Given the description of an element on the screen output the (x, y) to click on. 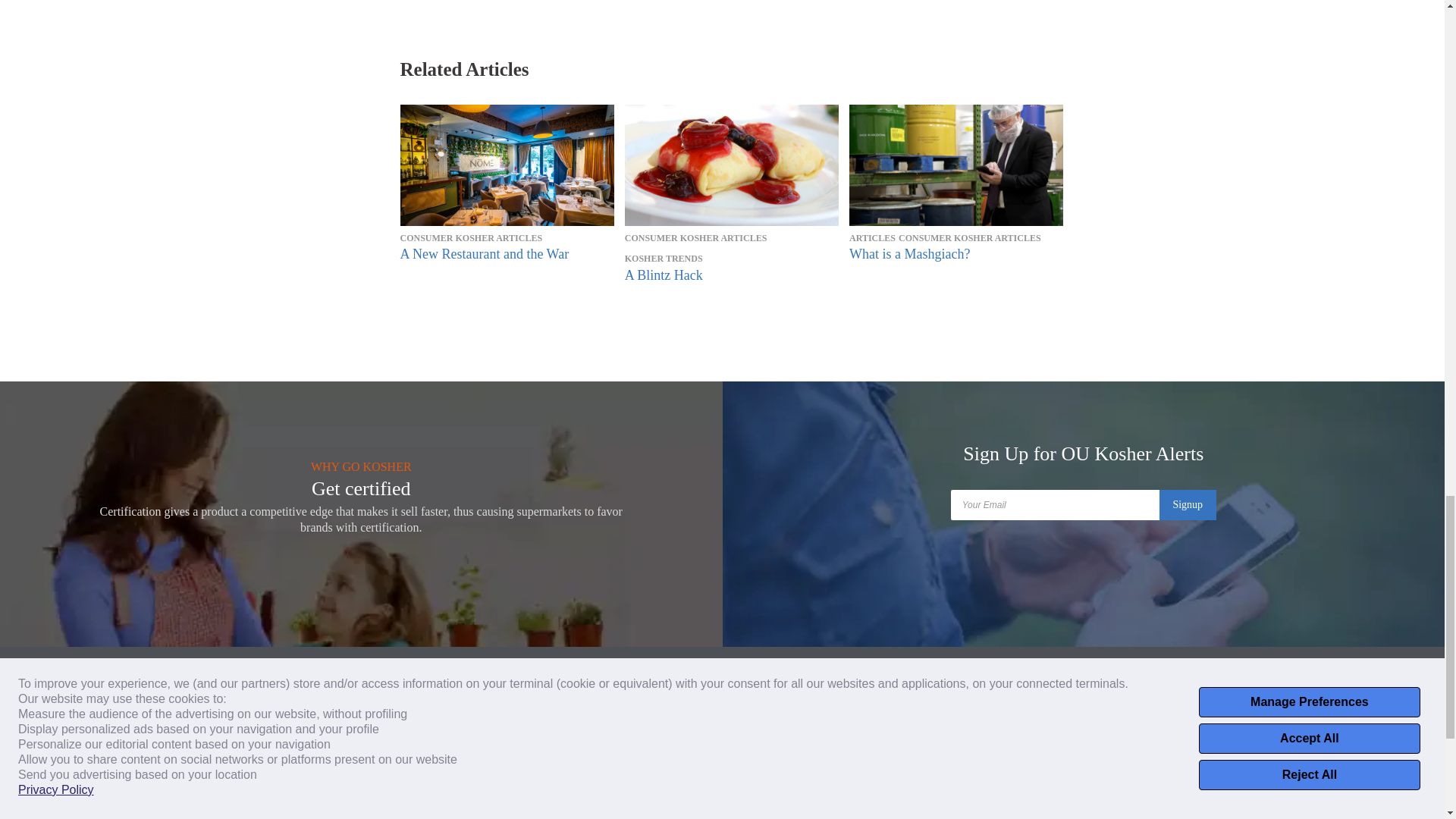
OU Kosher (413, 722)
